Given the description of an element on the screen output the (x, y) to click on. 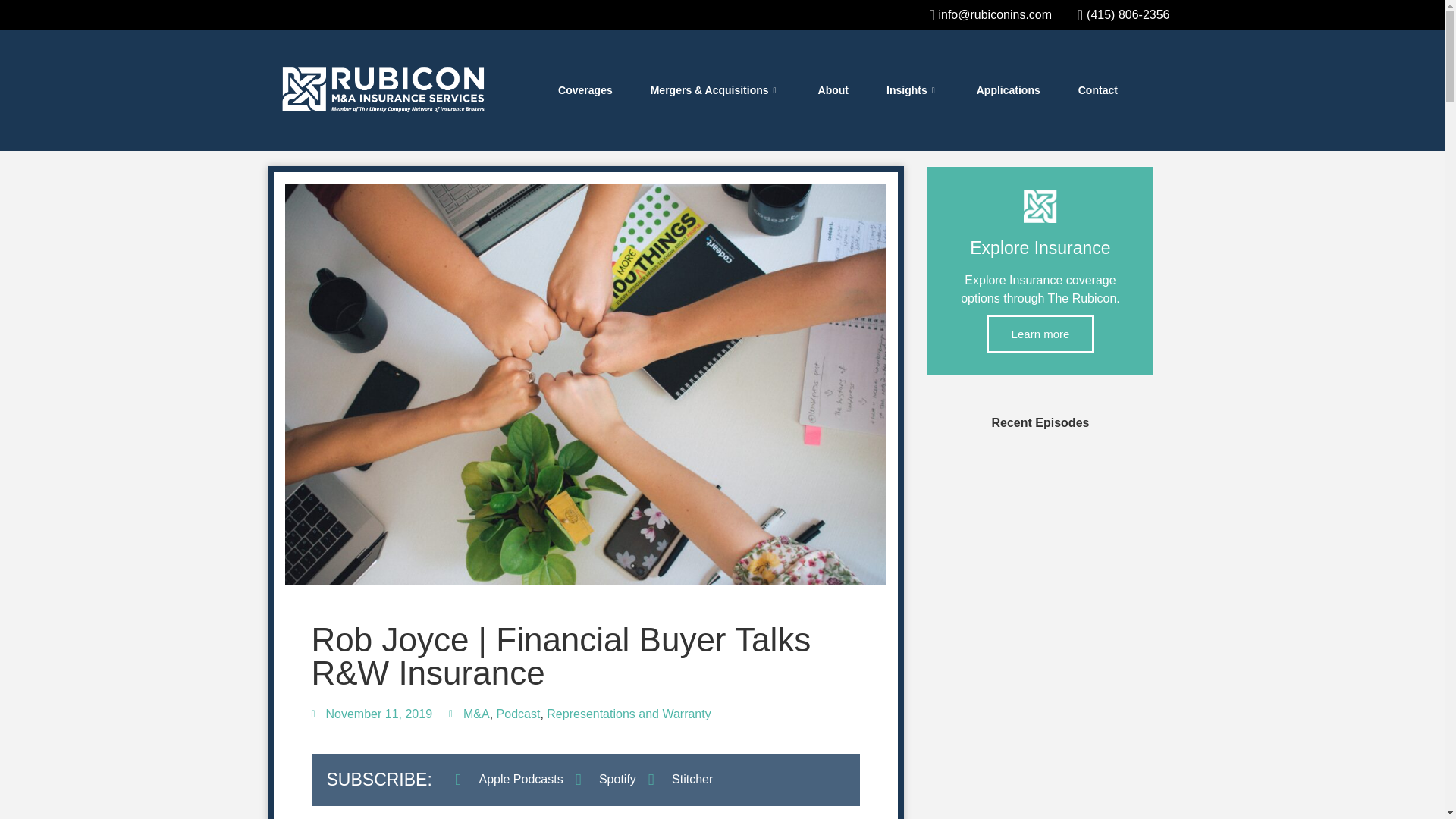
Representations and Warranty (628, 713)
About (833, 90)
Apple Podcasts (508, 779)
Contact (1098, 90)
Learn more (1040, 333)
Insights (912, 90)
Applications (1008, 90)
Stitcher (680, 779)
Podcast (518, 713)
Coverages (584, 90)
